Given the description of an element on the screen output the (x, y) to click on. 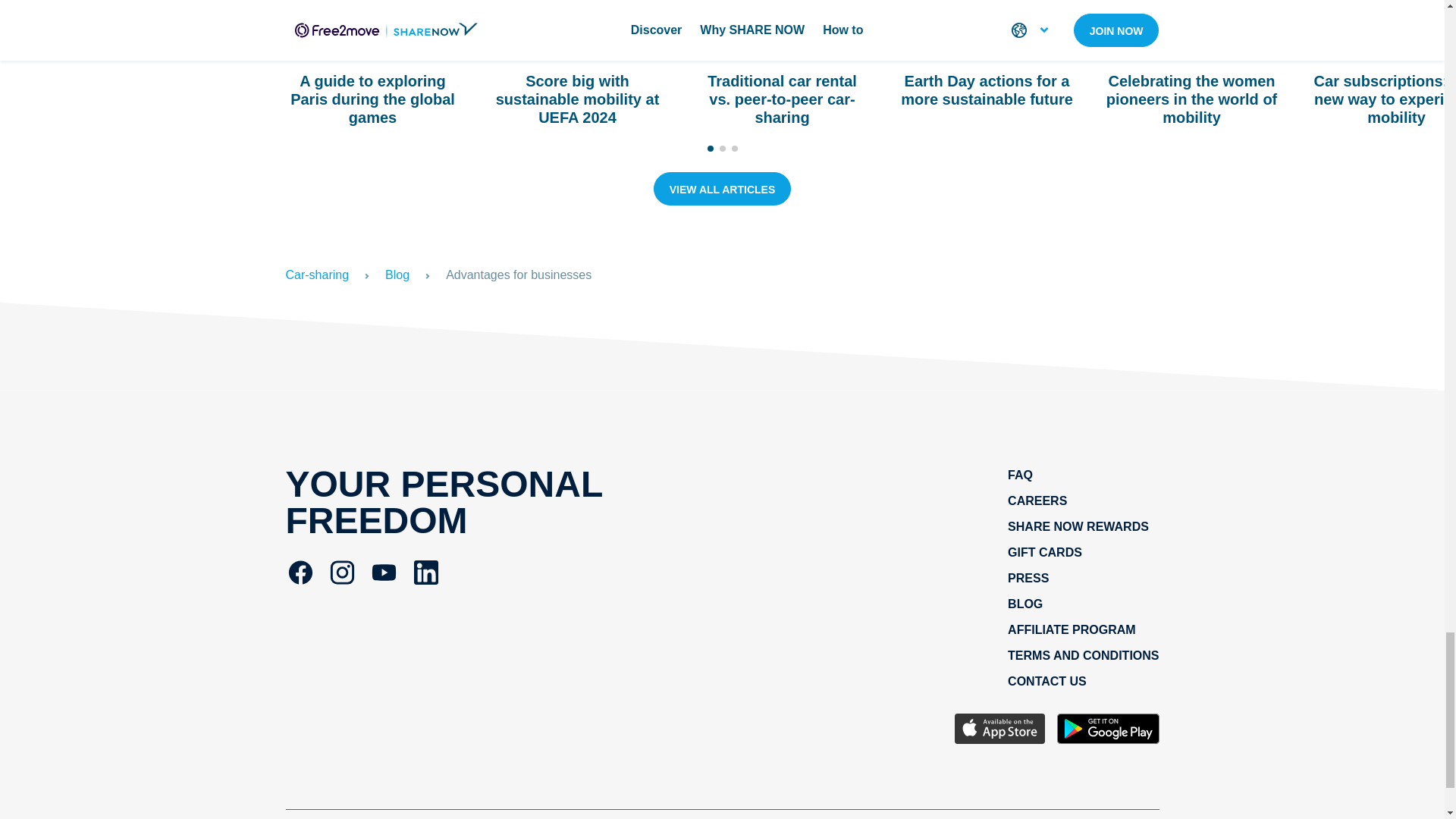
AFFILIATE PROGRAM (1071, 629)
TERMS AND CONDITIONS (1082, 655)
BLOG (1024, 603)
Score big with sustainable mobility at UEFA 2024 (576, 97)
CAREERS (1037, 500)
A guide to exploring Paris during the global games (372, 97)
PRESS (1027, 577)
Google Play SHARE NOW (1107, 730)
FAQ (1019, 474)
Traditional car rental vs. peer-to-peer car-sharing (781, 97)
